Given the description of an element on the screen output the (x, y) to click on. 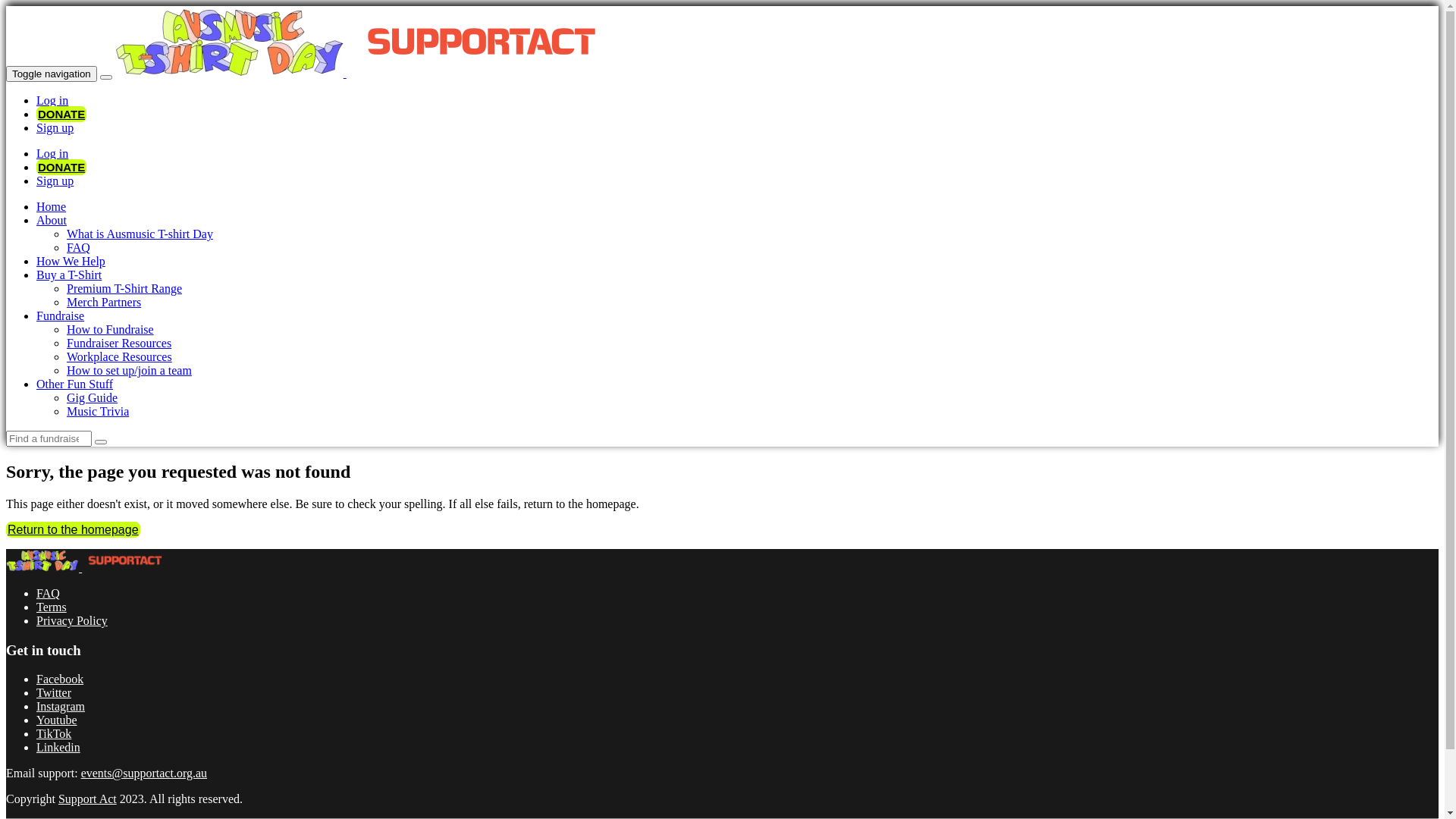
How We Help Element type: text (70, 260)
Workplace Resources Element type: text (119, 356)
Home Element type: text (50, 206)
Toggle navigation Element type: text (51, 73)
Support Act Element type: text (87, 798)
FAQ Element type: text (47, 592)
Fundraise Element type: text (60, 315)
Facebook Element type: text (59, 678)
Log in Element type: text (52, 153)
DONATE Element type: text (61, 114)
TikTok Element type: text (53, 733)
Sign up Element type: text (54, 127)
About Element type: text (51, 219)
Other Fun Stuff Element type: text (74, 383)
Buy a T-Shirt Element type: text (68, 274)
How to set up/join a team Element type: text (128, 370)
Fundraiser Resources Element type: text (118, 342)
Linkedin Element type: text (58, 746)
events@supportact.org.au Element type: text (144, 772)
Instagram Element type: text (60, 705)
Gig Guide Element type: text (91, 397)
Privacy Policy Element type: text (71, 620)
Youtube Element type: text (56, 719)
Premium T-Shirt Range Element type: text (124, 288)
Merch Partners Element type: text (103, 301)
Music Trivia Element type: text (97, 410)
Log in Element type: text (52, 100)
DONATE Element type: text (61, 167)
What is Ausmusic T-shirt Day Element type: text (139, 233)
How to Fundraise Element type: text (109, 329)
Sign up Element type: text (54, 180)
Twitter Element type: text (53, 692)
FAQ Element type: text (78, 247)
Terms Element type: text (51, 606)
Return to the homepage Element type: text (73, 529)
